Given the description of an element on the screen output the (x, y) to click on. 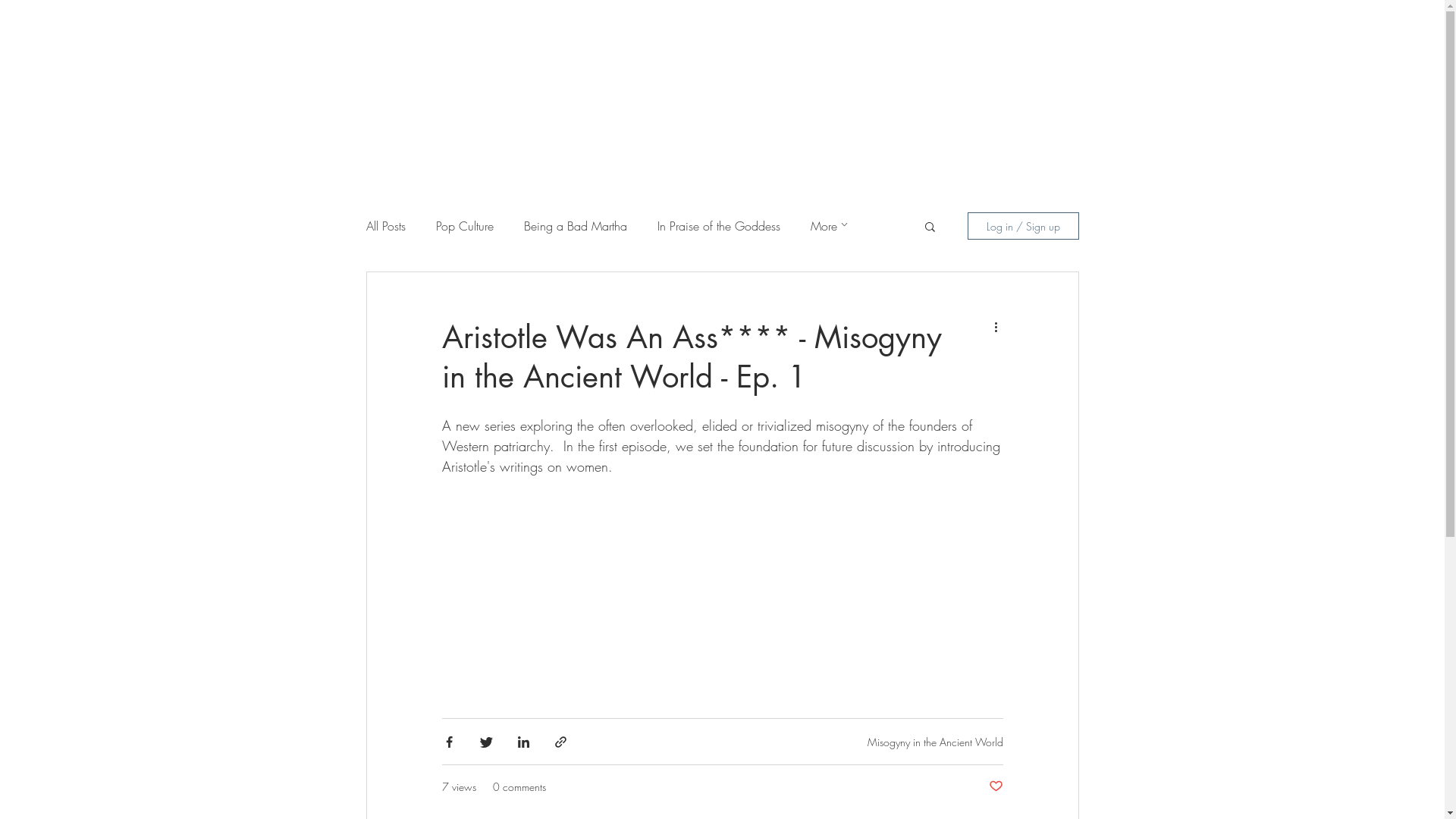
Pop Culture Element type: text (463, 225)
Being a Bad Martha Element type: text (574, 225)
All Posts Element type: text (384, 225)
Log in / Sign up Element type: text (1023, 225)
Misogyny in the Ancient World Element type: text (935, 741)
Post not marked as liked Element type: text (995, 786)
In Praise of the Goddess Element type: text (717, 225)
remote content Element type: hover (721, 578)
